Given the description of an element on the screen output the (x, y) to click on. 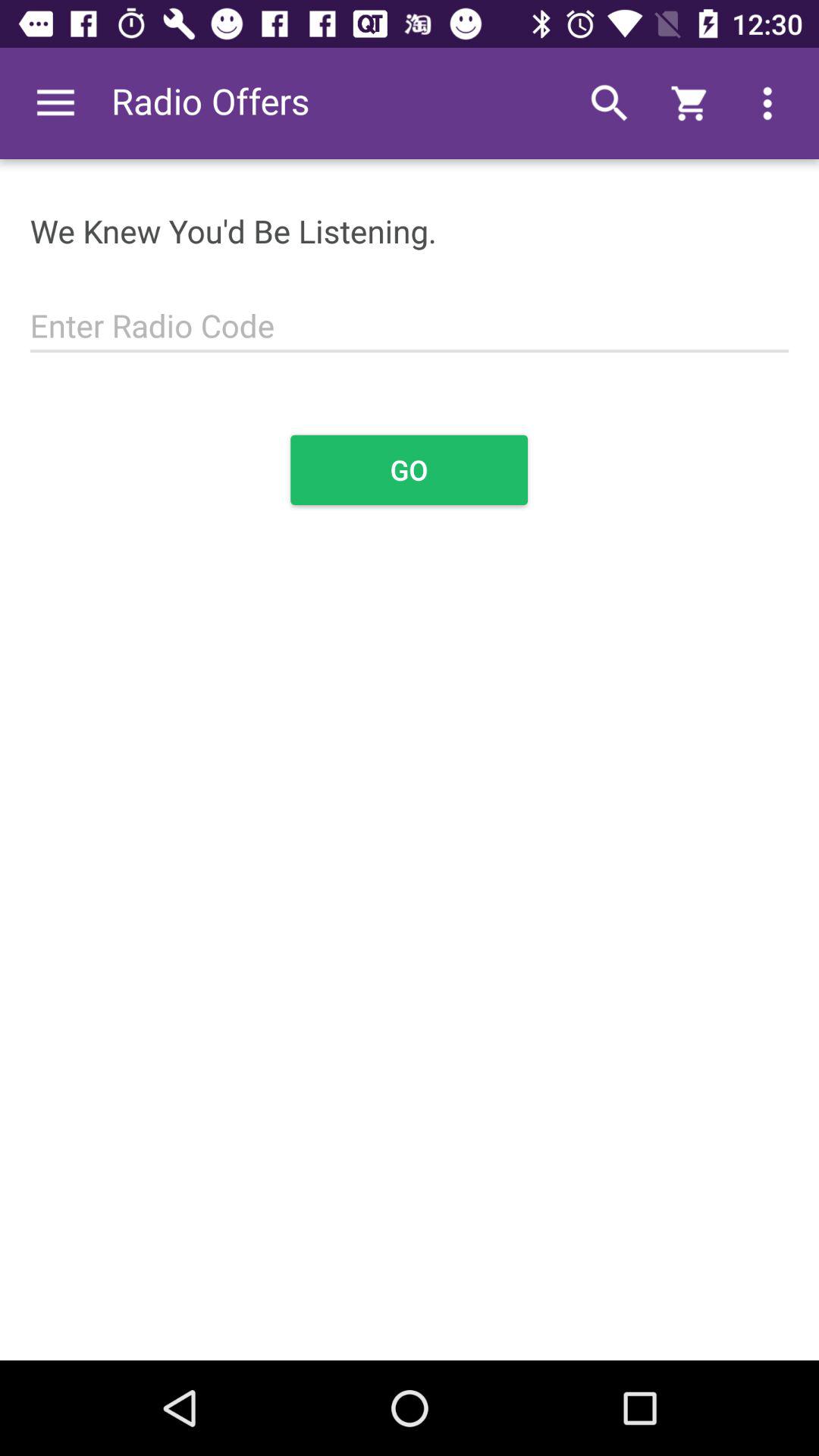
jump to the go (408, 470)
